Given the description of an element on the screen output the (x, y) to click on. 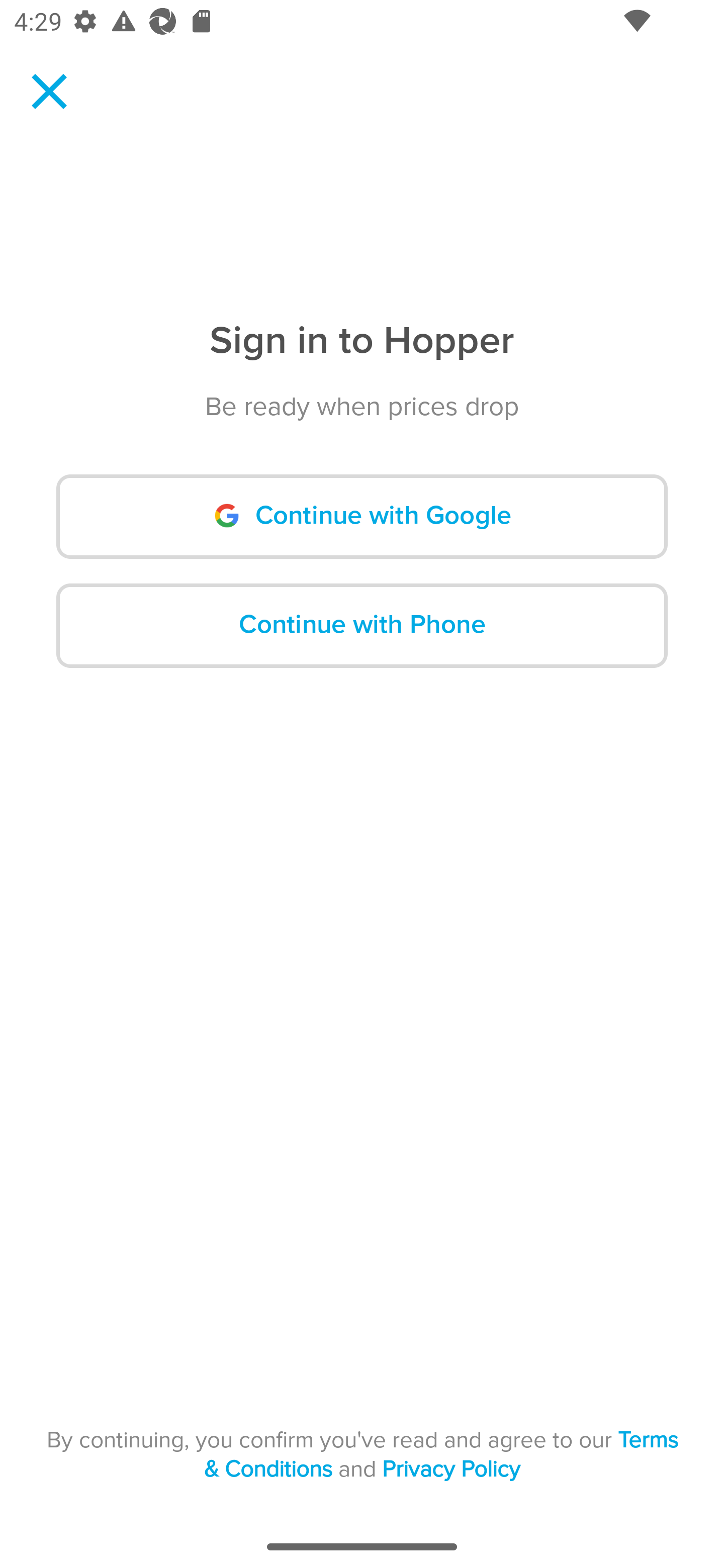
Navigate up (49, 91)
‍ Continue with Google (361, 516)
‍Continue with Phone (361, 625)
